Given the description of an element on the screen output the (x, y) to click on. 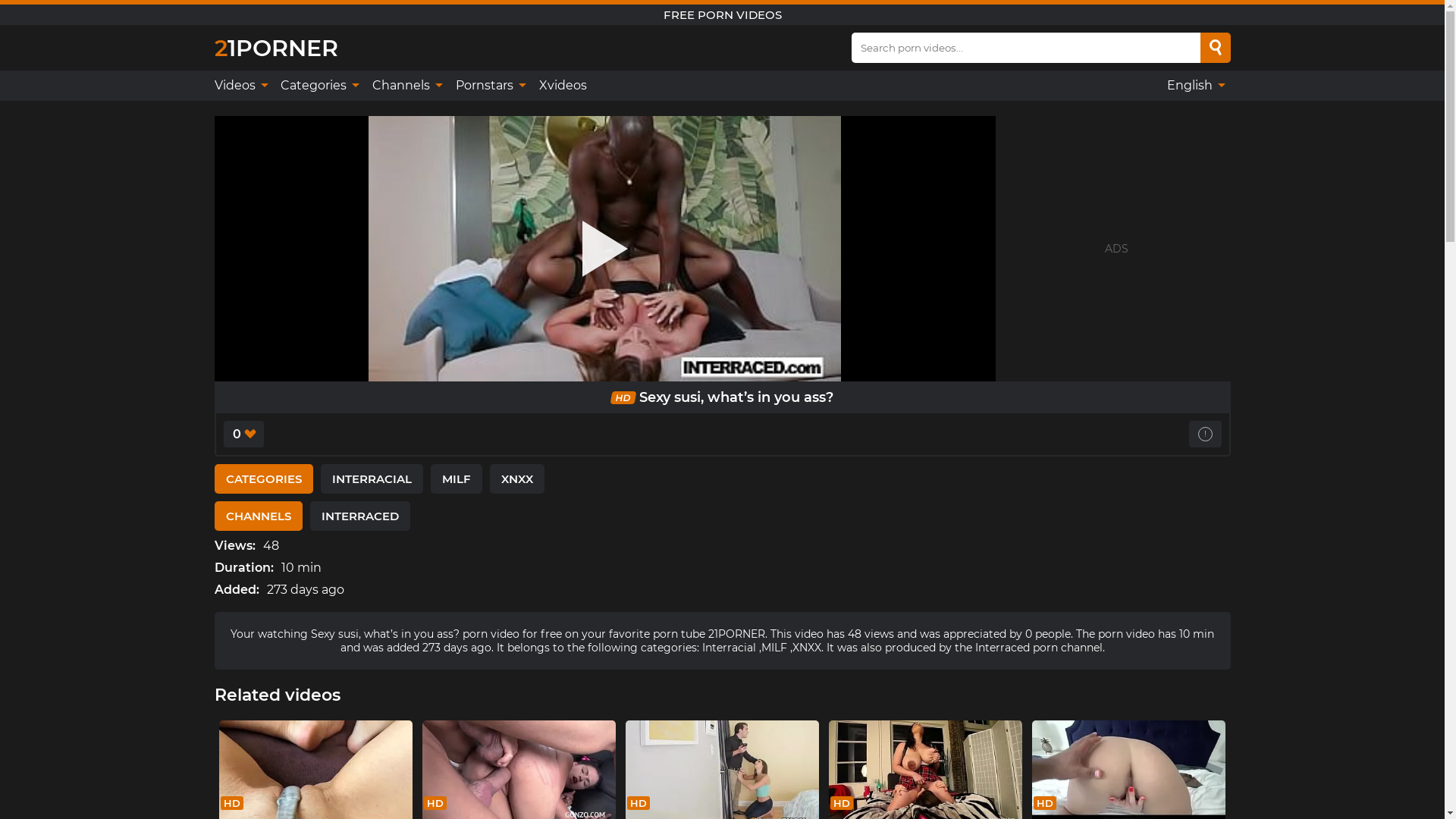
MILF Element type: text (456, 478)
INTERRACIAL Element type: text (371, 478)
English Element type: text (1194, 85)
Categories Element type: text (318, 85)
XNXX Element type: text (516, 478)
21PORNER Element type: text (275, 47)
Search Element type: text (1215, 47)
Channels Element type: text (406, 85)
Pornstars Element type: text (488, 85)
Videos Element type: text (242, 85)
Xvideos Element type: text (562, 85)
INTERRACED Element type: text (359, 515)
